Given the description of an element on the screen output the (x, y) to click on. 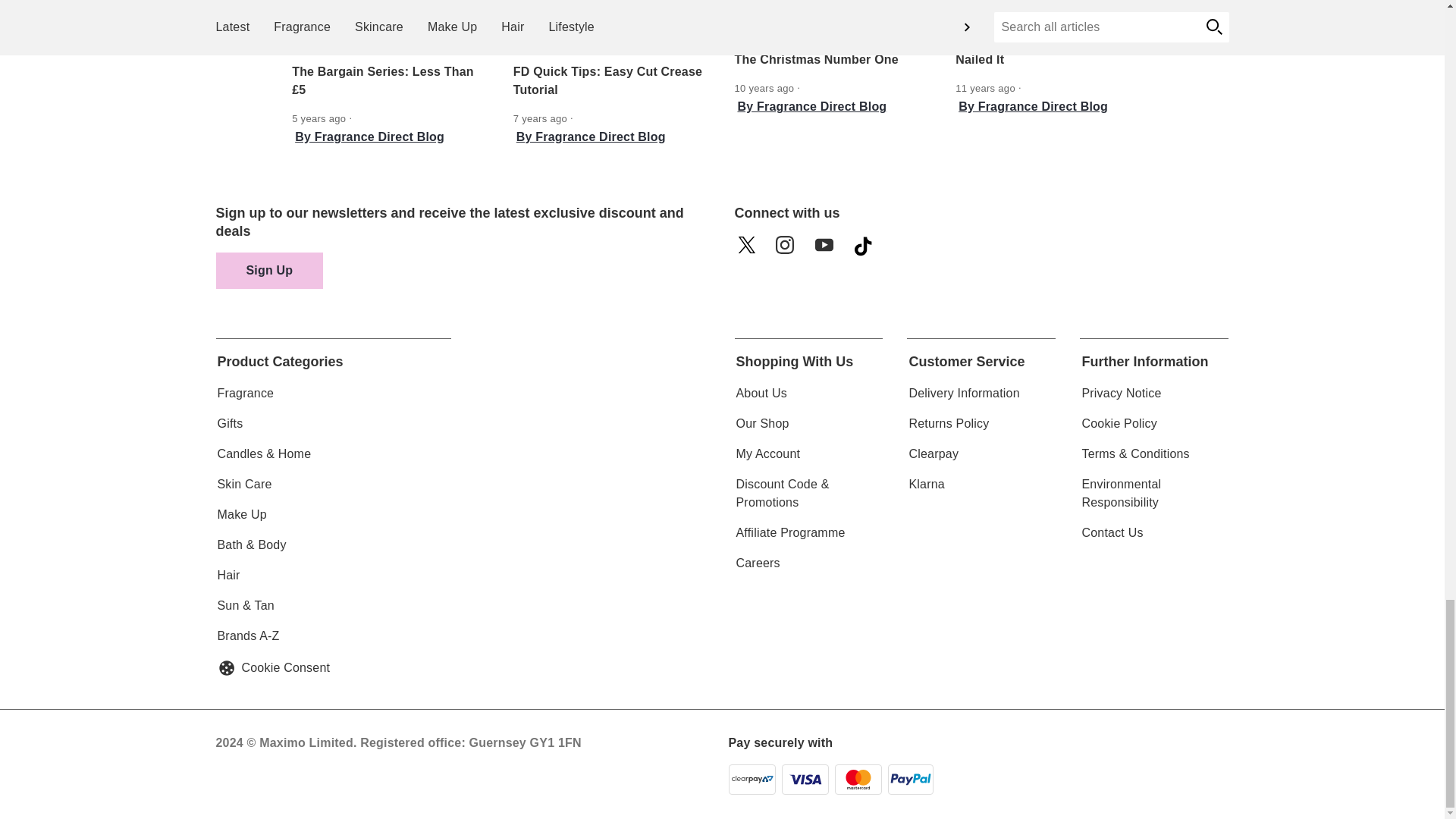
instagram (789, 250)
twitter (750, 250)
youtube (828, 250)
tiktok (868, 250)
